Given the description of an element on the screen output the (x, y) to click on. 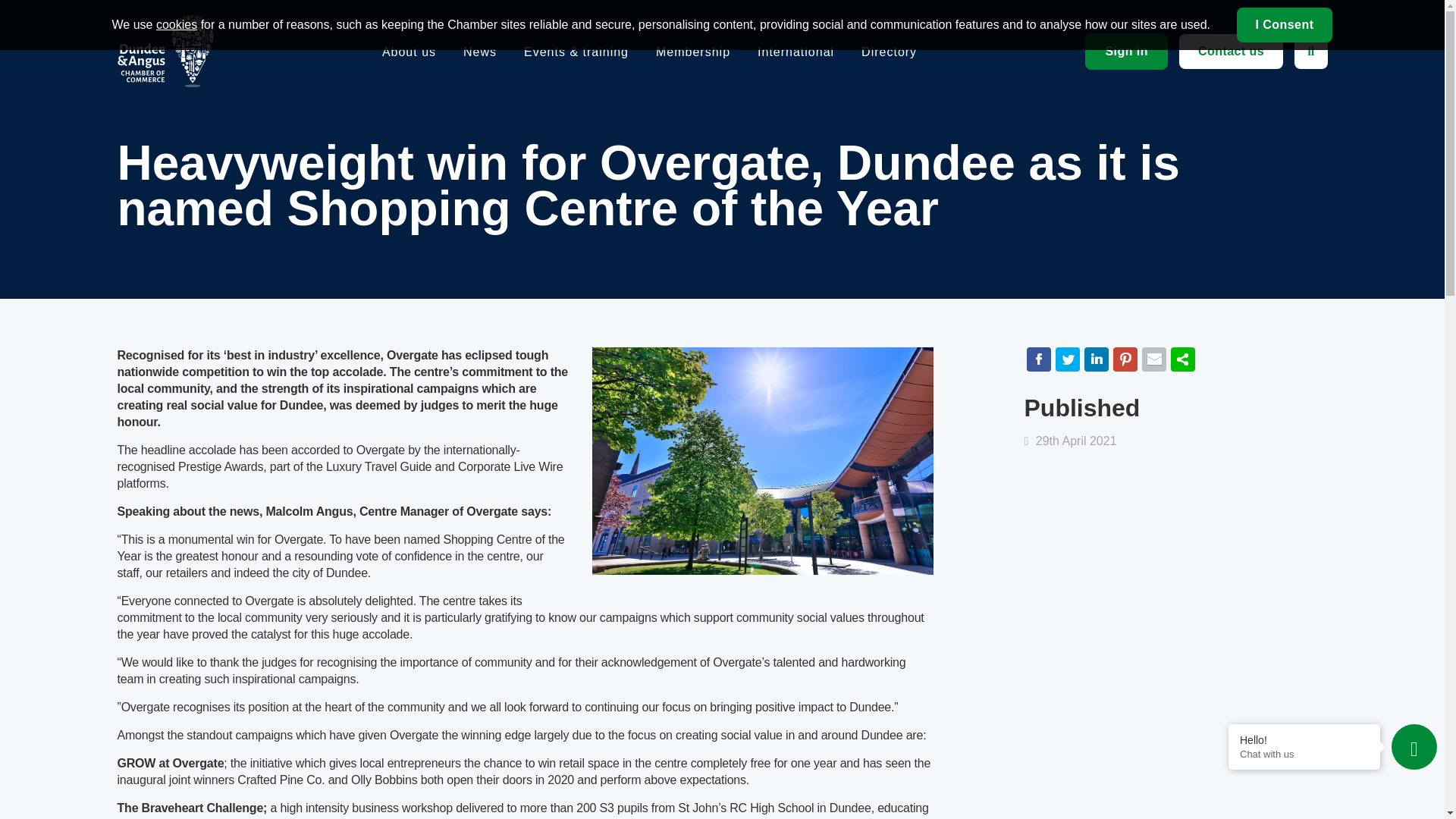
Sign in (1125, 51)
Sign in (1125, 51)
Membership (693, 51)
Hello! (1304, 739)
I Consent (1284, 24)
About us (408, 51)
News (479, 51)
Directory (889, 51)
International (795, 51)
cookies (175, 24)
